Given the description of an element on the screen output the (x, y) to click on. 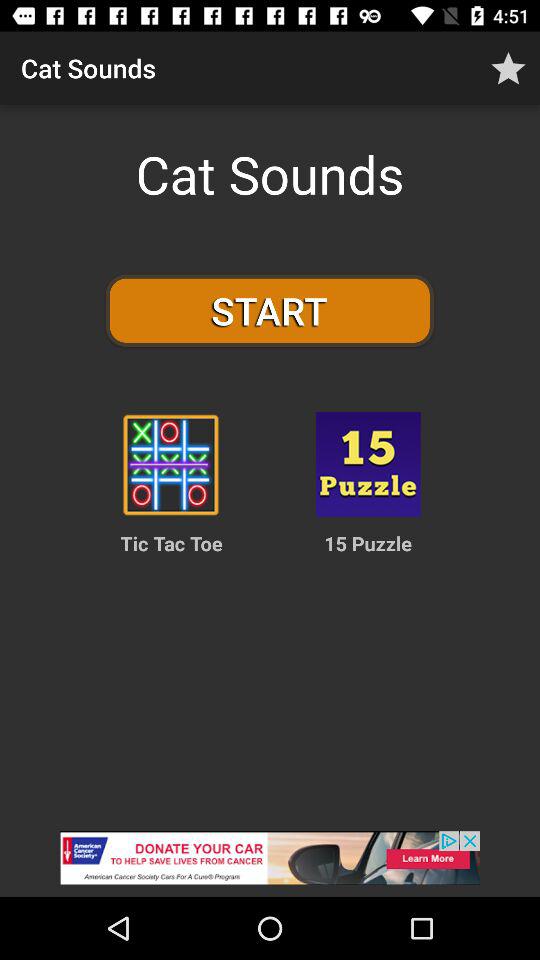
open advertisements (270, 864)
